Given the description of an element on the screen output the (x, y) to click on. 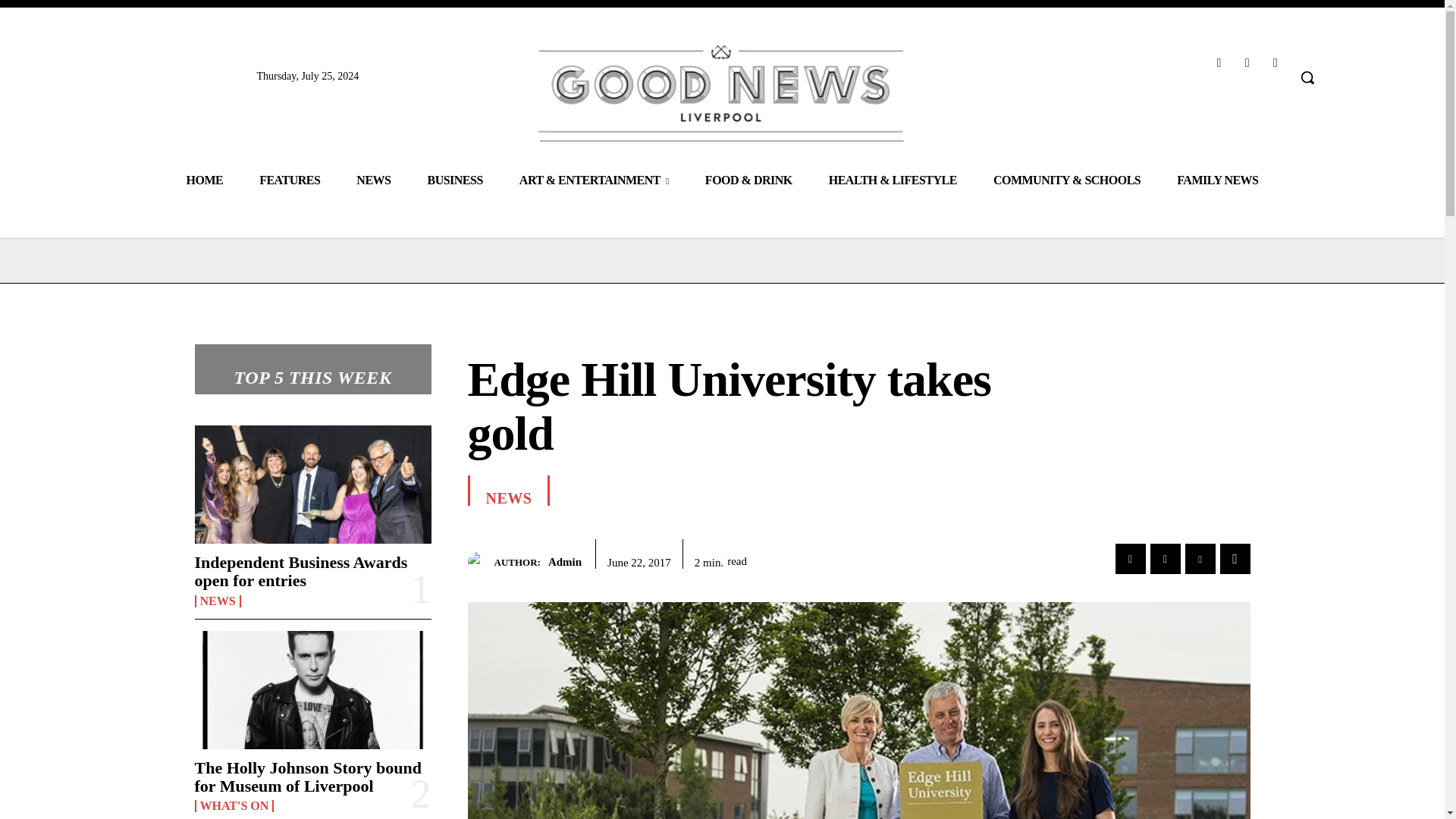
Facebook (1218, 62)
Twitter (1275, 62)
BUSINESS (454, 179)
NEWS (373, 179)
Independent Business Awards open for entries (300, 570)
The Holly Johnson Story bound for Museum of Liverpool (311, 689)
FEATURES (289, 179)
HOME (204, 179)
Instagram (1246, 62)
The Holly Johnson Story bound for Museum of Liverpool (307, 776)
Independent Business Awards open for entries (311, 484)
